Given the description of an element on the screen output the (x, y) to click on. 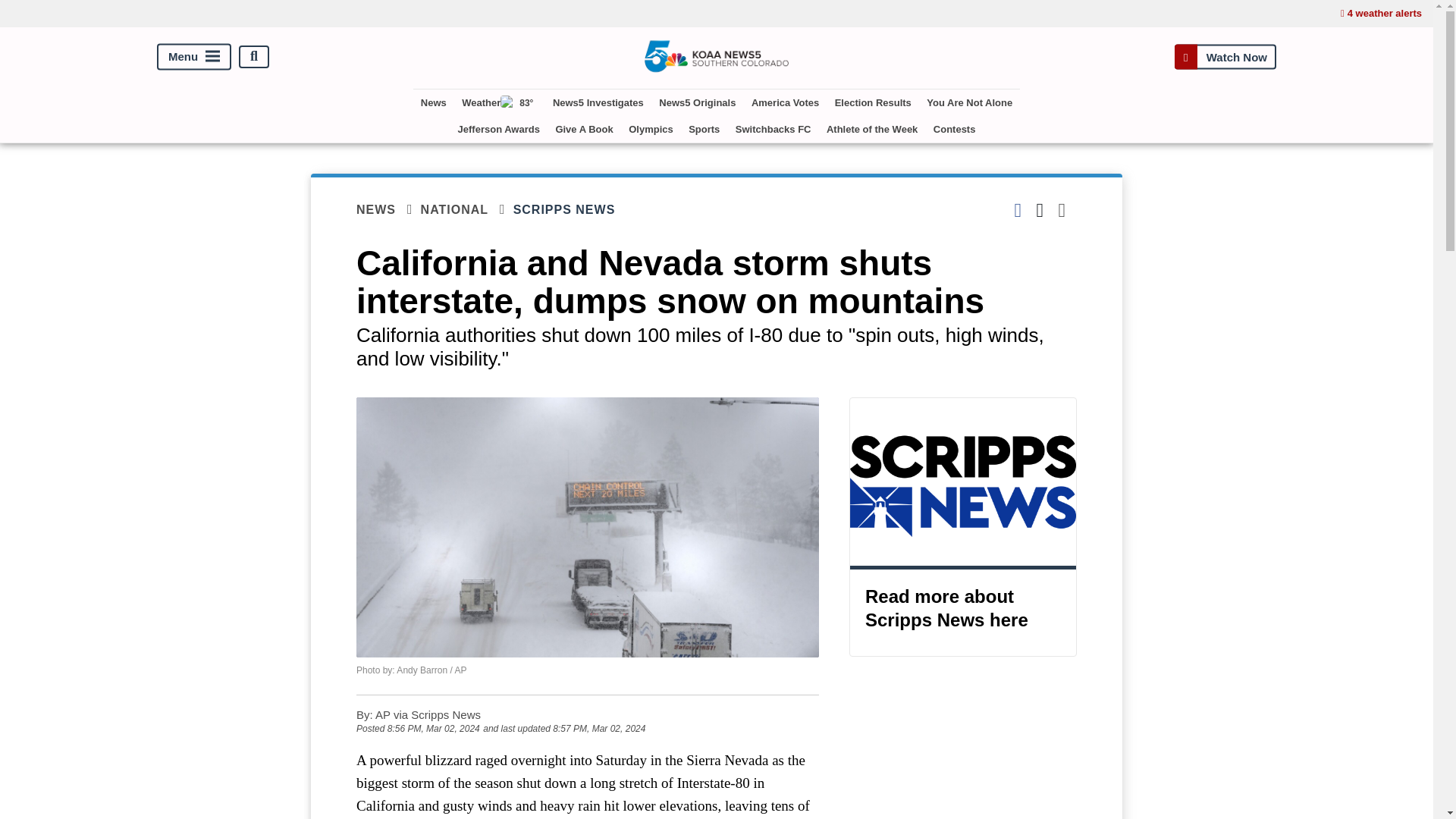
Menu (194, 56)
Watch Now (1224, 56)
